Given the description of an element on the screen output the (x, y) to click on. 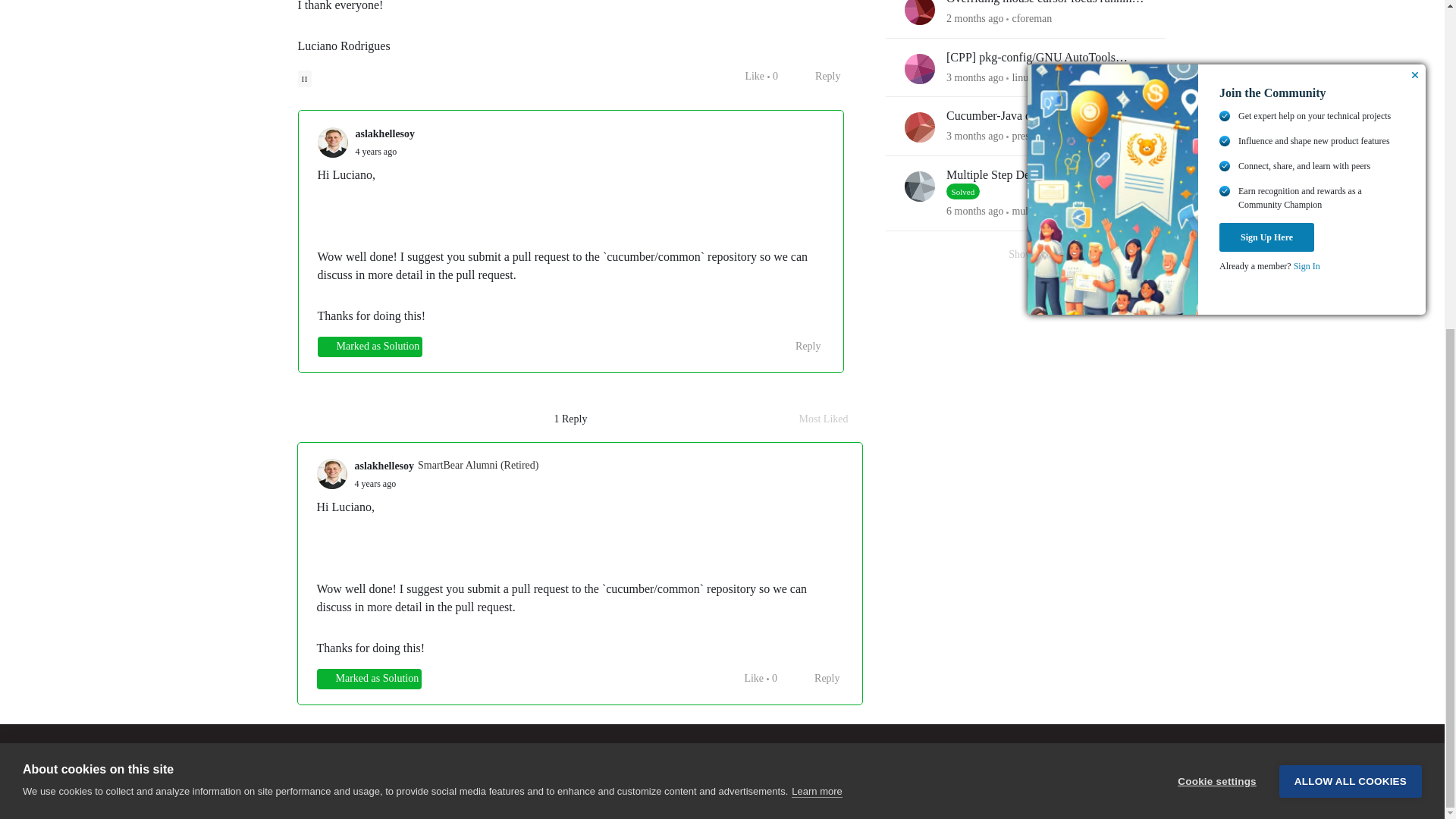
May 22, 2024 at 5:56 PM (974, 18)
ALLOW ALL COOKIES (1350, 247)
June 15, 2021 at 10:32 PM (375, 483)
June 15, 2021 at 10:32 PM (375, 151)
May 7, 2024 at 8:06 PM (974, 76)
Learn more (816, 272)
Cookie settings (1216, 251)
